Given the description of an element on the screen output the (x, y) to click on. 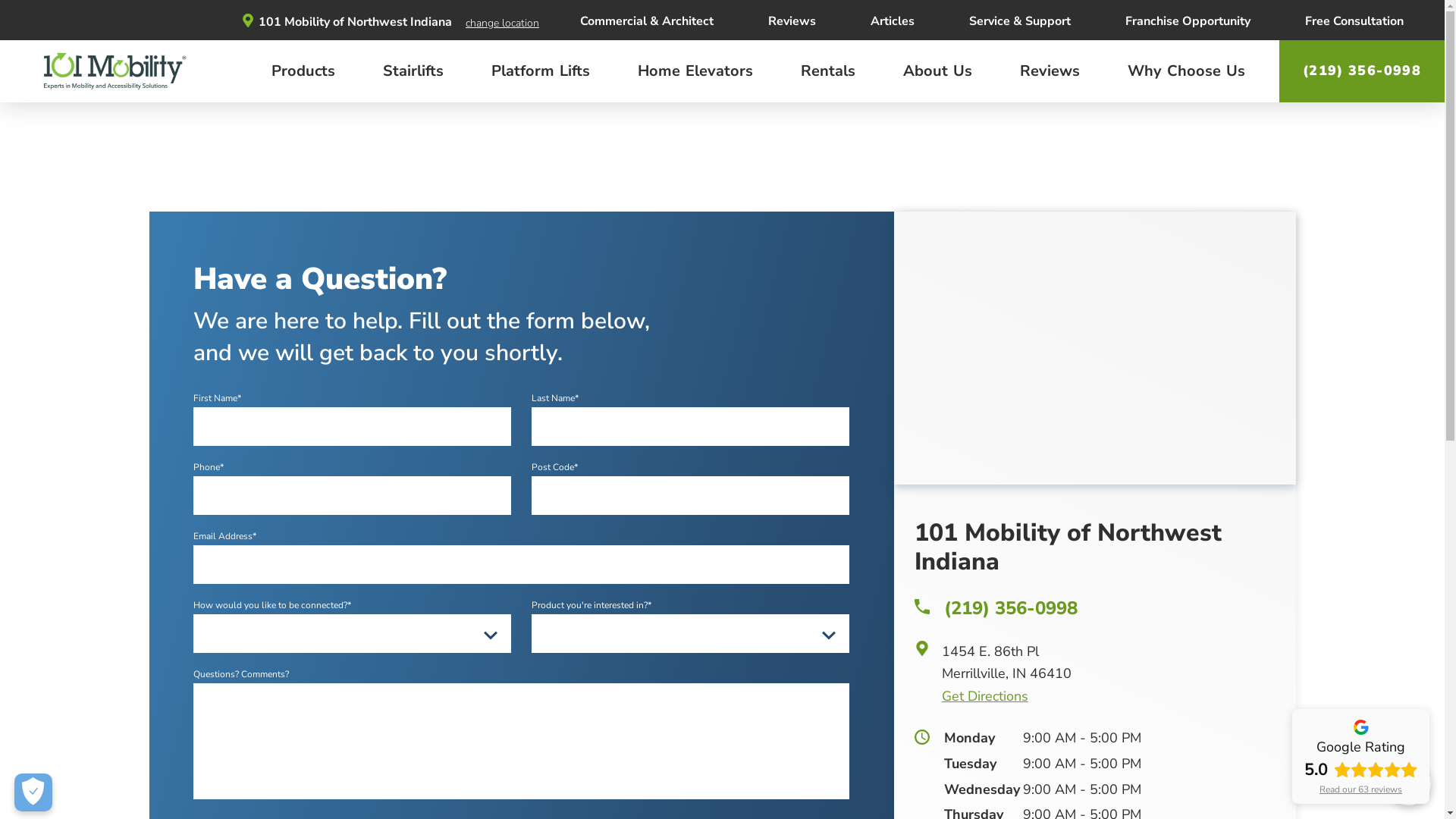
Commercial & Architect Element type: text (646, 20)
Franchise Opportunity Element type: text (1187, 20)
Change Settings Element type: hover (33, 792)
Reviews Element type: text (1049, 70)
Free Consultation Element type: text (1354, 20)
Service & Support Element type: text (1019, 20)
Home Elevators Element type: text (695, 70)
Get Directions Element type: text (1108, 696)
Why Choose Us Element type: text (1185, 70)
Articles Element type: text (892, 20)
Rentals Element type: text (828, 70)
101 Mobility of Northwest Indiana Element type: text (346, 20)
Reviews Element type: text (791, 20)
Stairlifts Element type: text (413, 70)
(219) 356-0998 Element type: text (1361, 70)
change location Element type: text (502, 22)
Platform Lifts Element type: text (540, 70)
Products Element type: text (302, 70)
Open the accessibility options menu Element type: hover (1408, 783)
About Us Element type: text (937, 70)
(219) 356-0998 Element type: text (1094, 608)
Open the accessibility options menu Element type: hover (1408, 783)
